Given the description of an element on the screen output the (x, y) to click on. 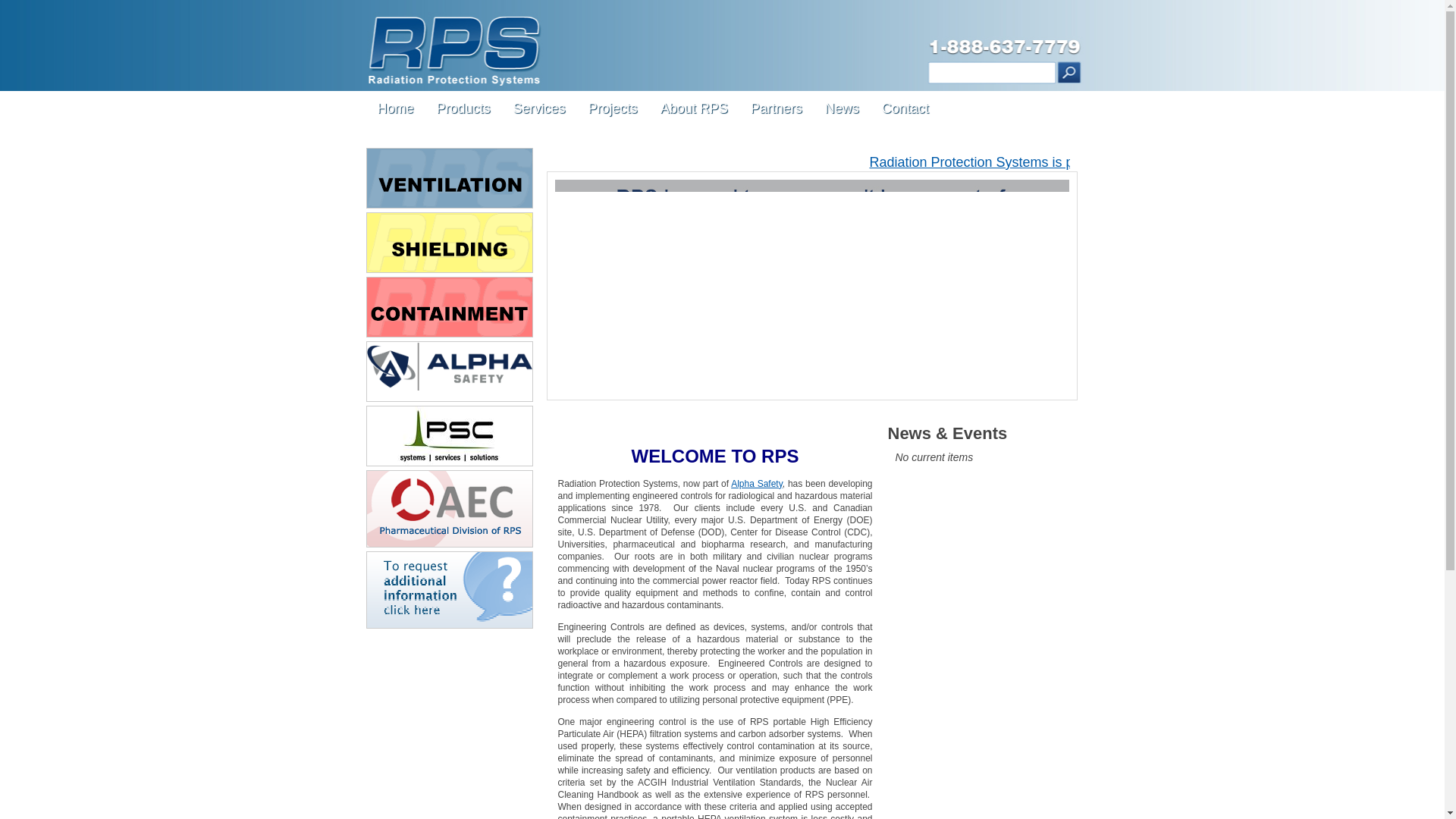
Home (395, 108)
Projects (612, 108)
Projects (612, 108)
Home (395, 108)
Partners (776, 108)
News (841, 108)
Services (539, 108)
About RPS (694, 108)
Services (539, 108)
Contact (905, 108)
Products (463, 108)
